Given the description of an element on the screen output the (x, y) to click on. 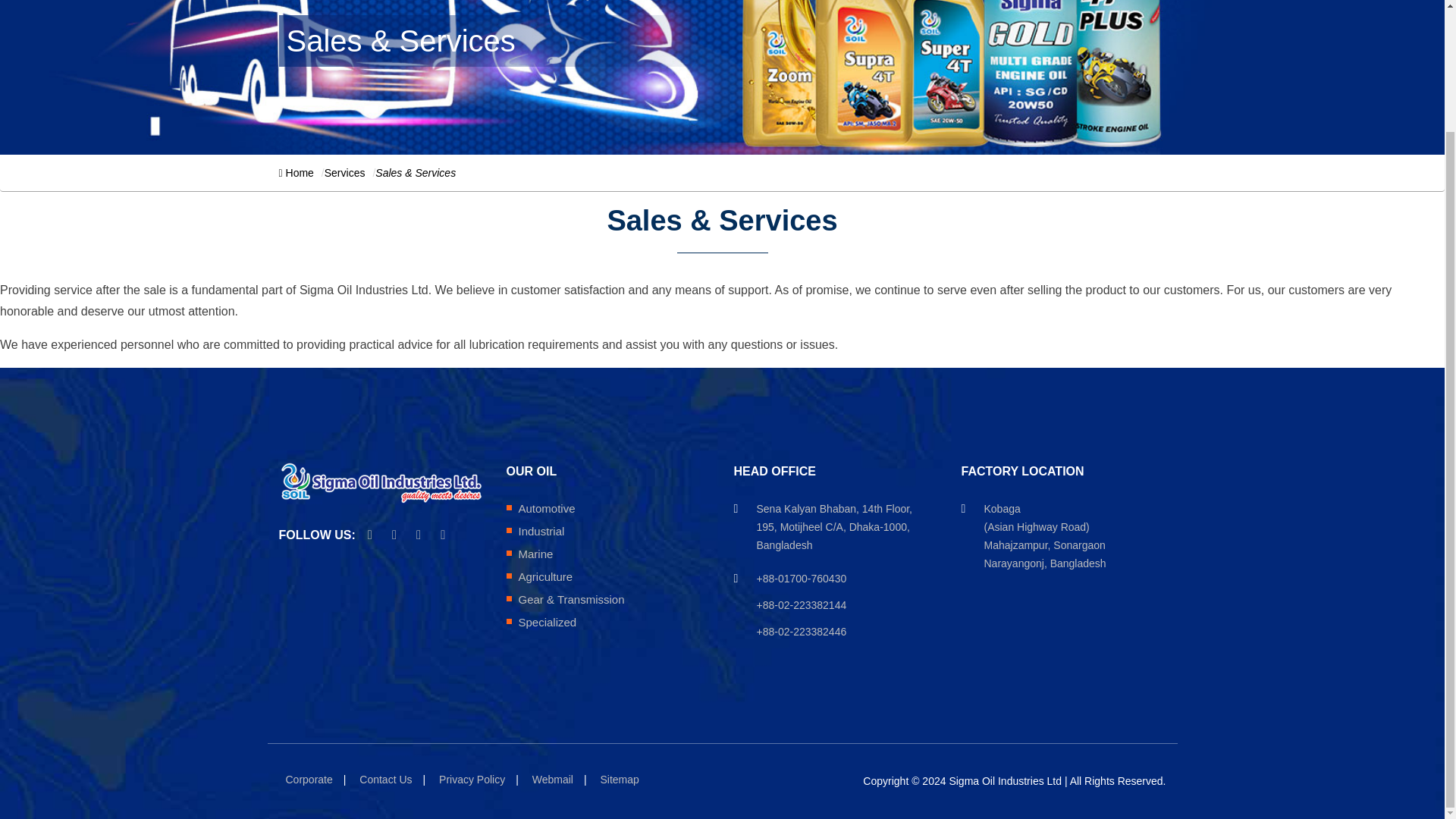
Call Us Now (802, 582)
Call Us Now (802, 609)
Call Us Now (802, 635)
